Given the description of an element on the screen output the (x, y) to click on. 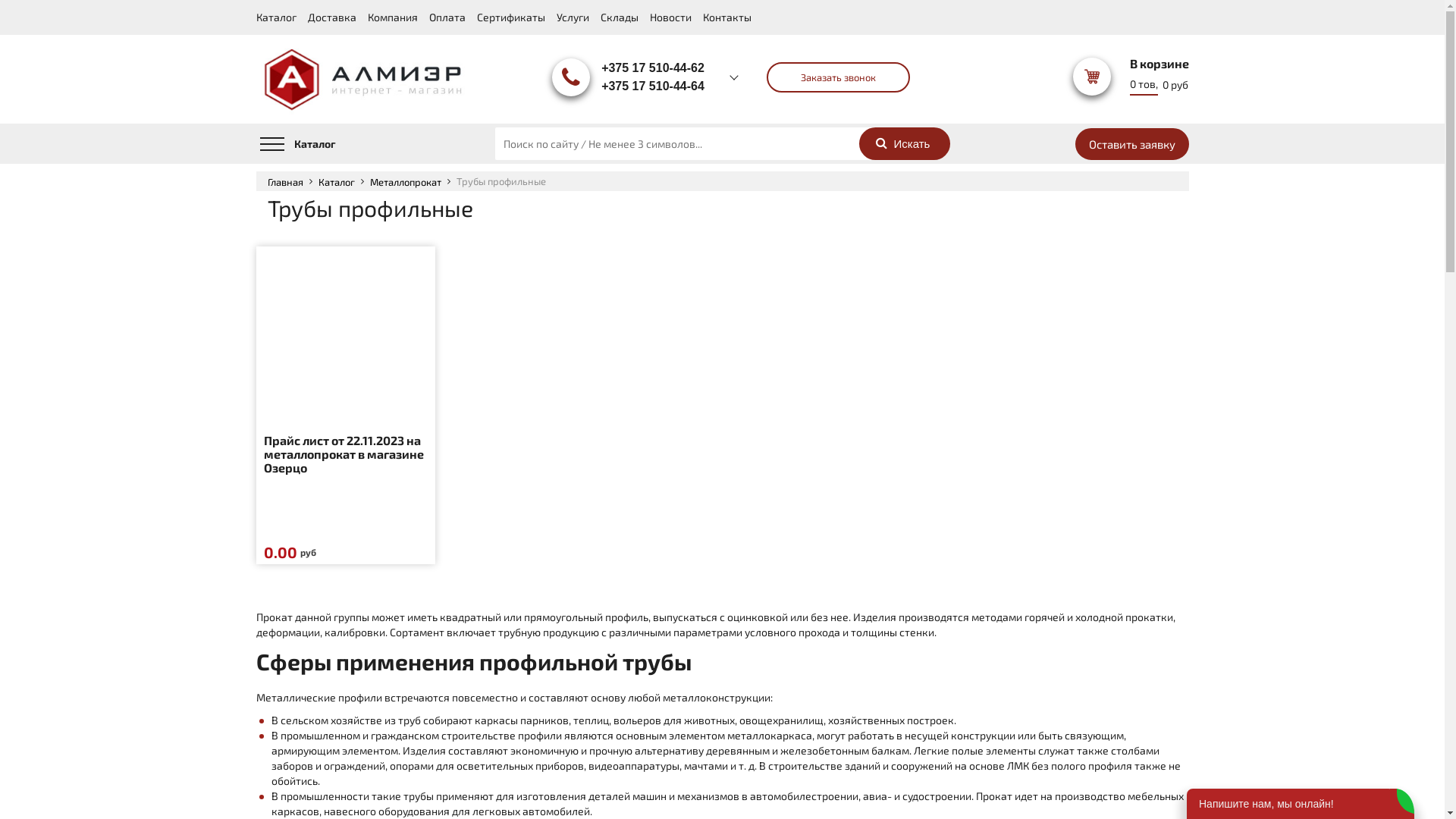
+375 17 510-44-64 Element type: text (652, 85)
+375 17 510-44-62 Element type: text (652, 67)
